Given the description of an element on the screen output the (x, y) to click on. 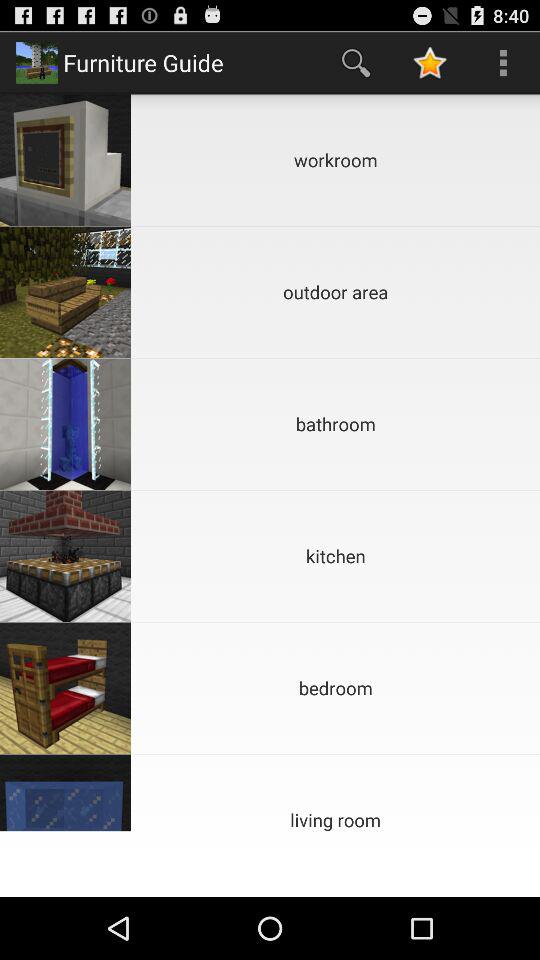
press icon above the workroom item (429, 62)
